Given the description of an element on the screen output the (x, y) to click on. 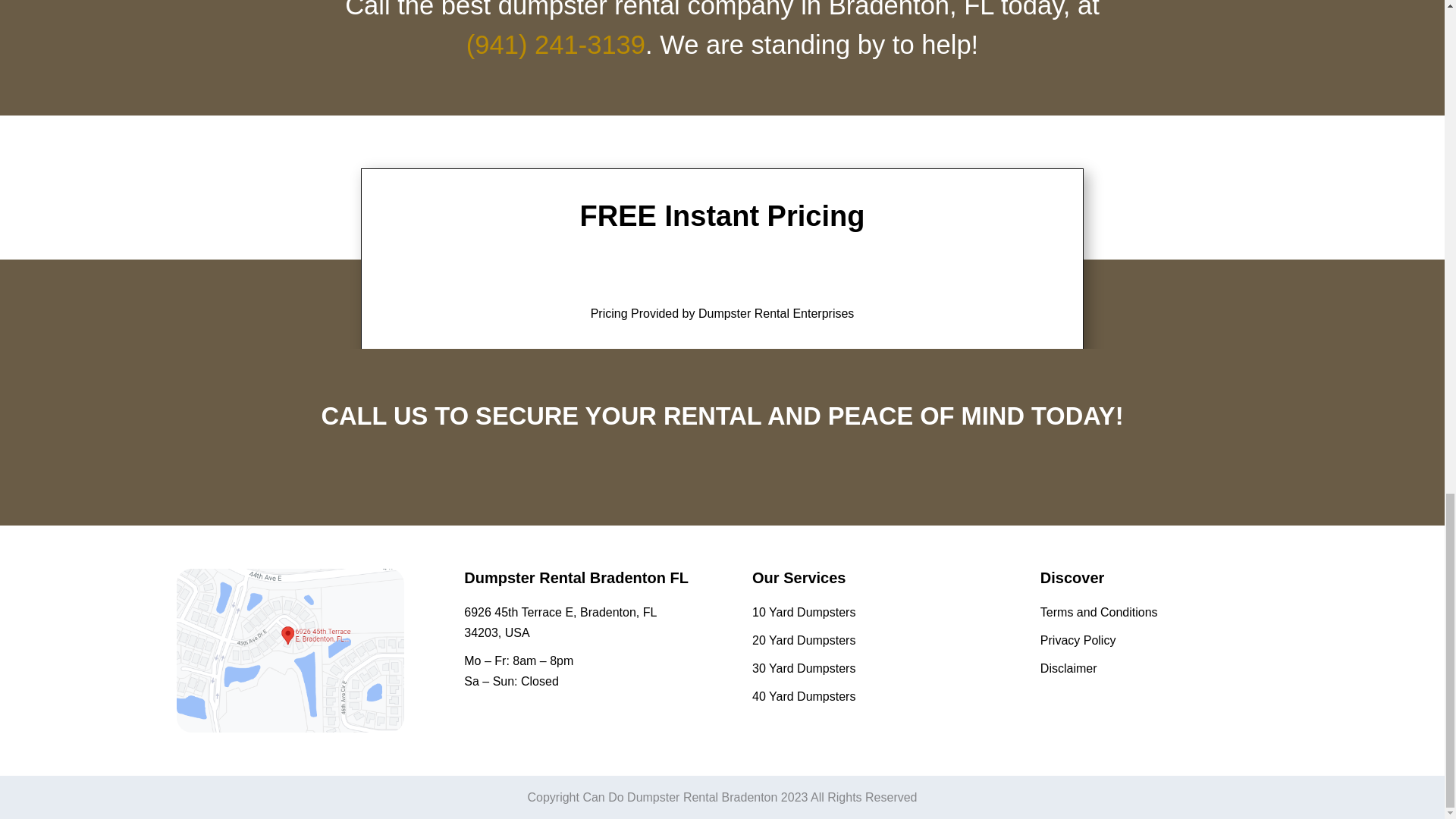
Bradenton, FL (290, 650)
